Given the description of an element on the screen output the (x, y) to click on. 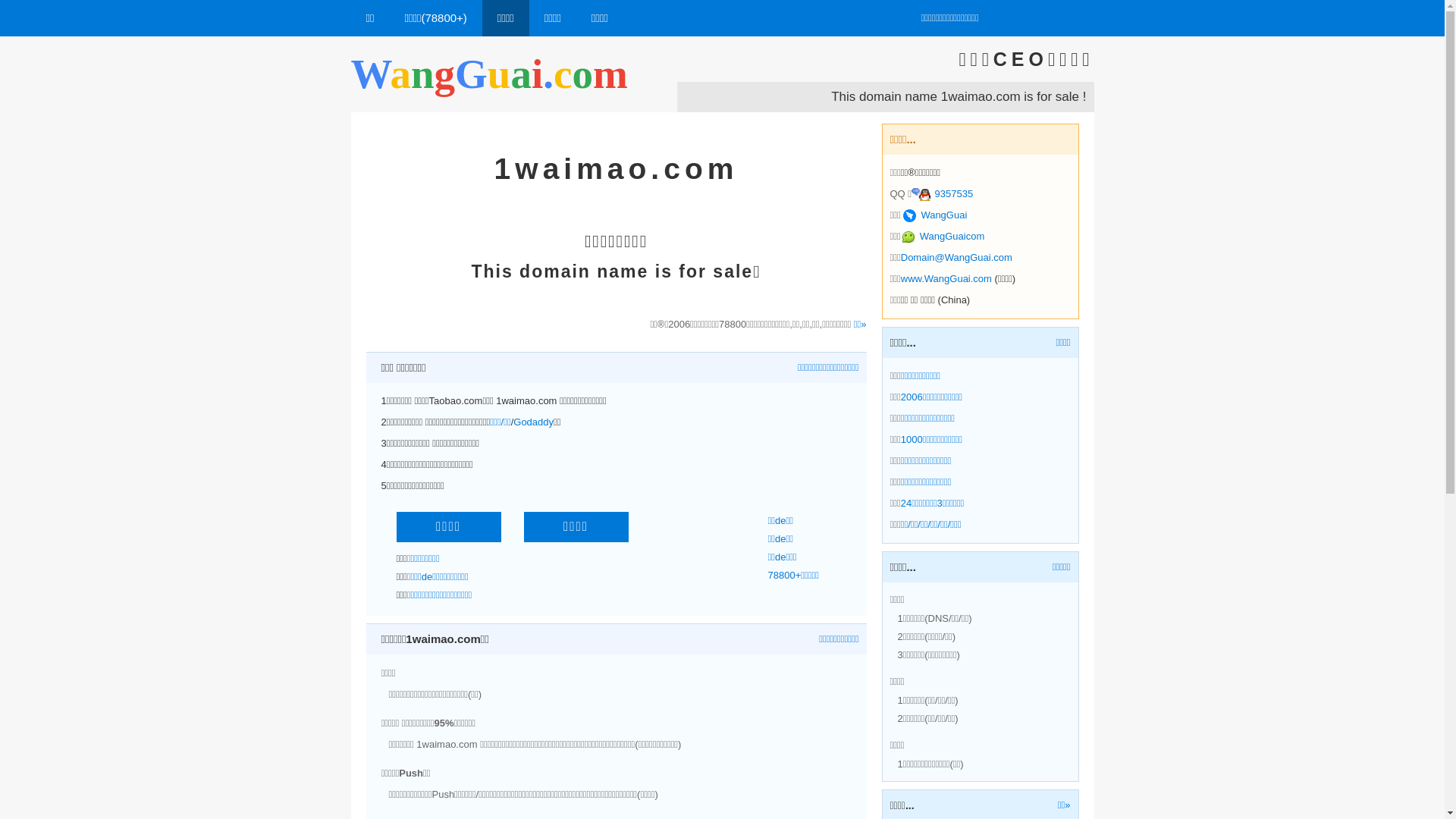
www.WangGuai.com Element type: text (945, 278)
WangGuai Element type: text (934, 214)
9357535 Element type: text (941, 193)
WangGuaicom Element type: text (942, 235)
Godaddy Element type: text (533, 421)
Domain@WangGuai.com Element type: text (956, 257)
